Given the description of an element on the screen output the (x, y) to click on. 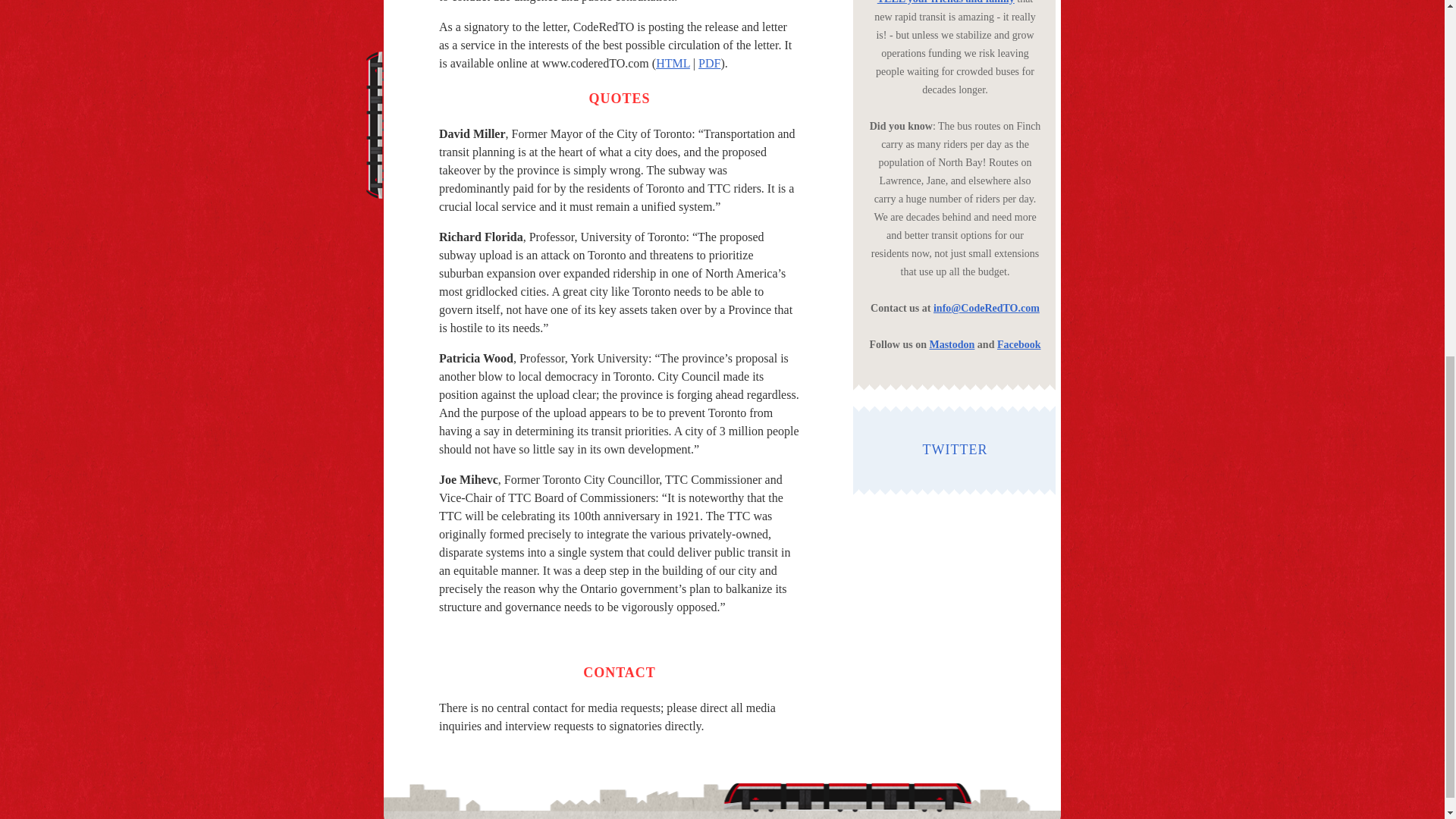
HTML (673, 62)
Mastodon (951, 344)
PDF (709, 62)
TELL your friends and family (945, 2)
Facebook (1019, 344)
